Given the description of an element on the screen output the (x, y) to click on. 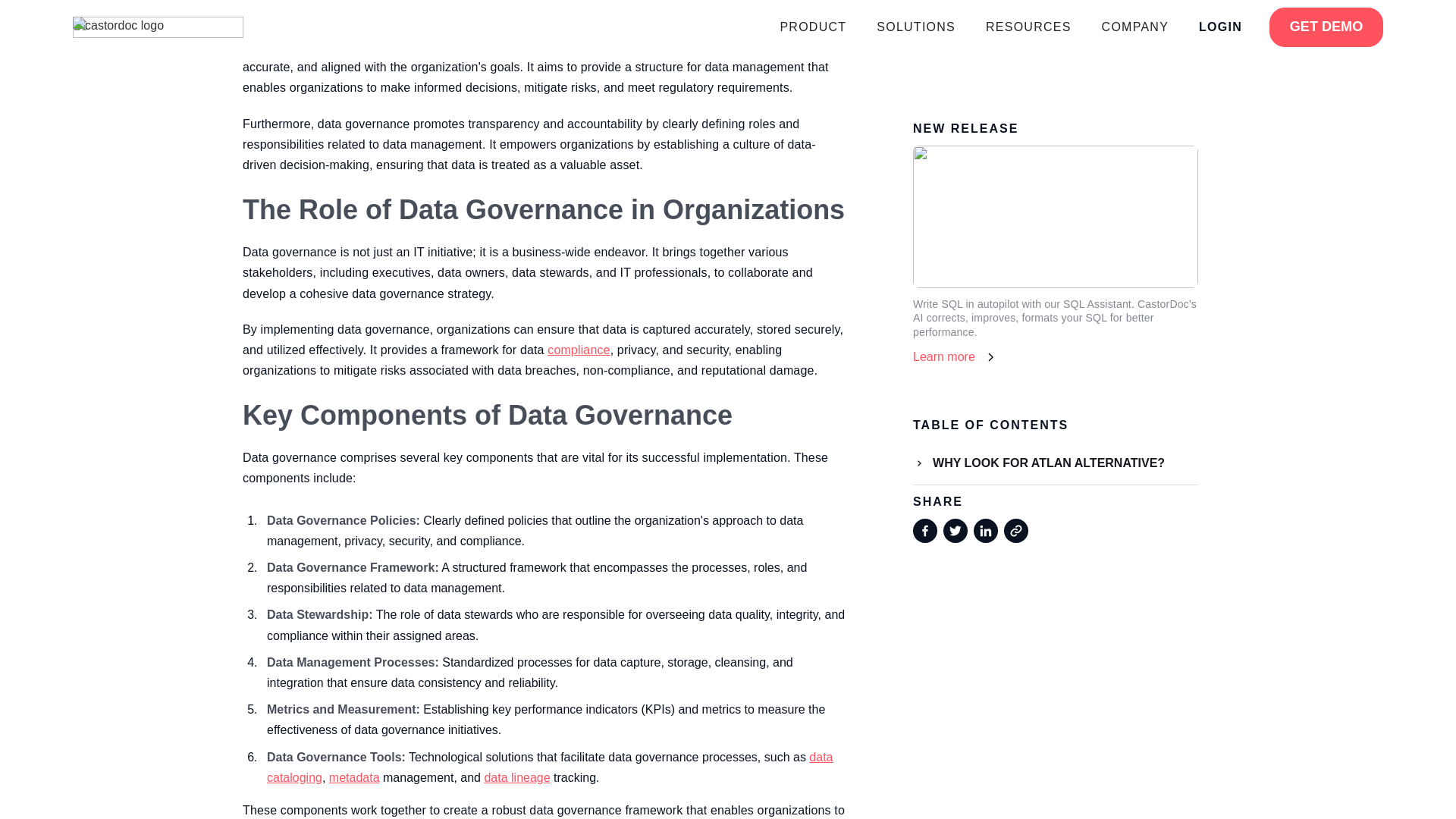
data lineage (516, 777)
data cataloging (549, 767)
establishing a set of rules and processes (558, 46)
compliance (578, 349)
metadata (354, 777)
